Given the description of an element on the screen output the (x, y) to click on. 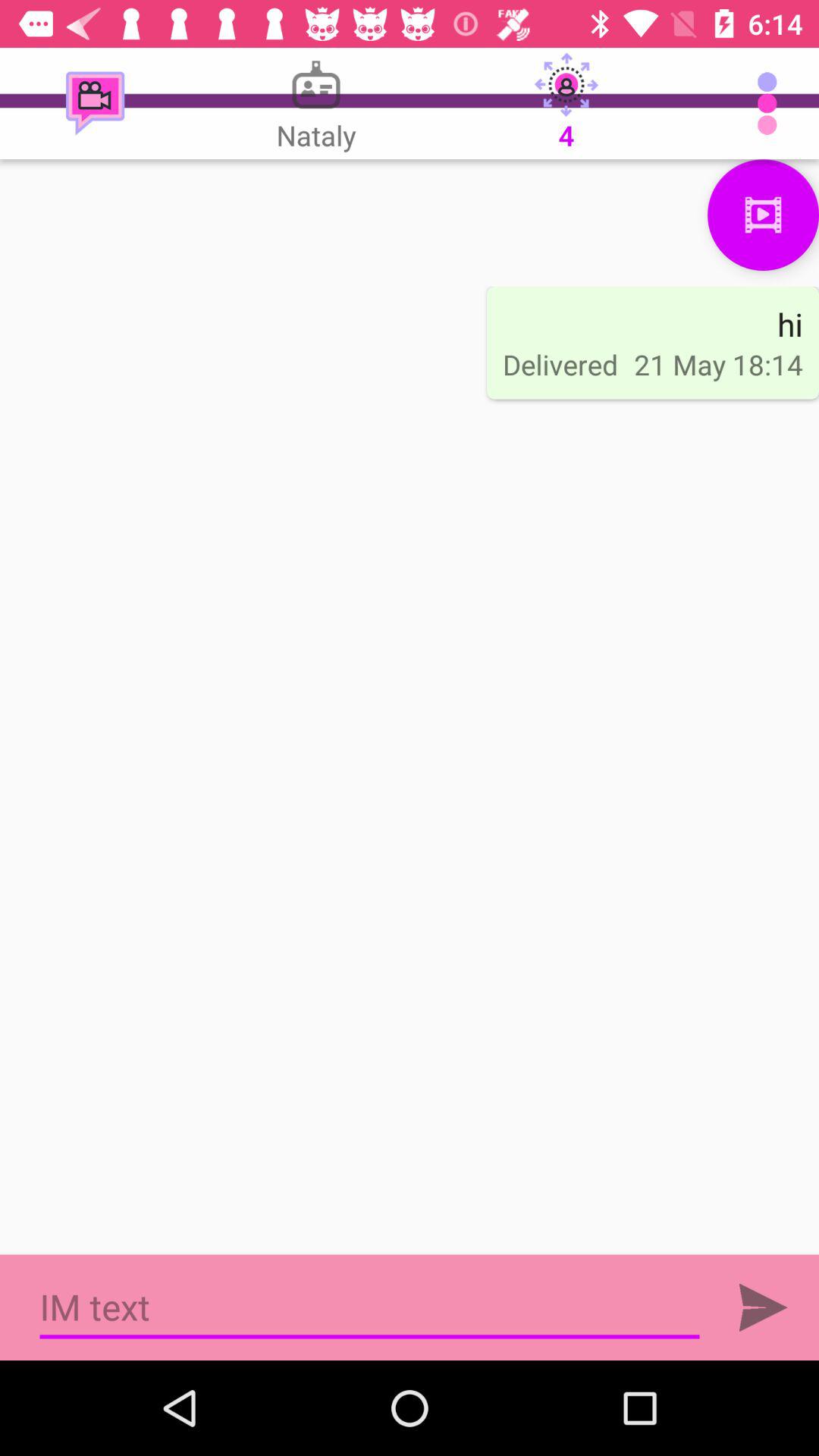
go to youtube (763, 214)
